Given the description of an element on the screen output the (x, y) to click on. 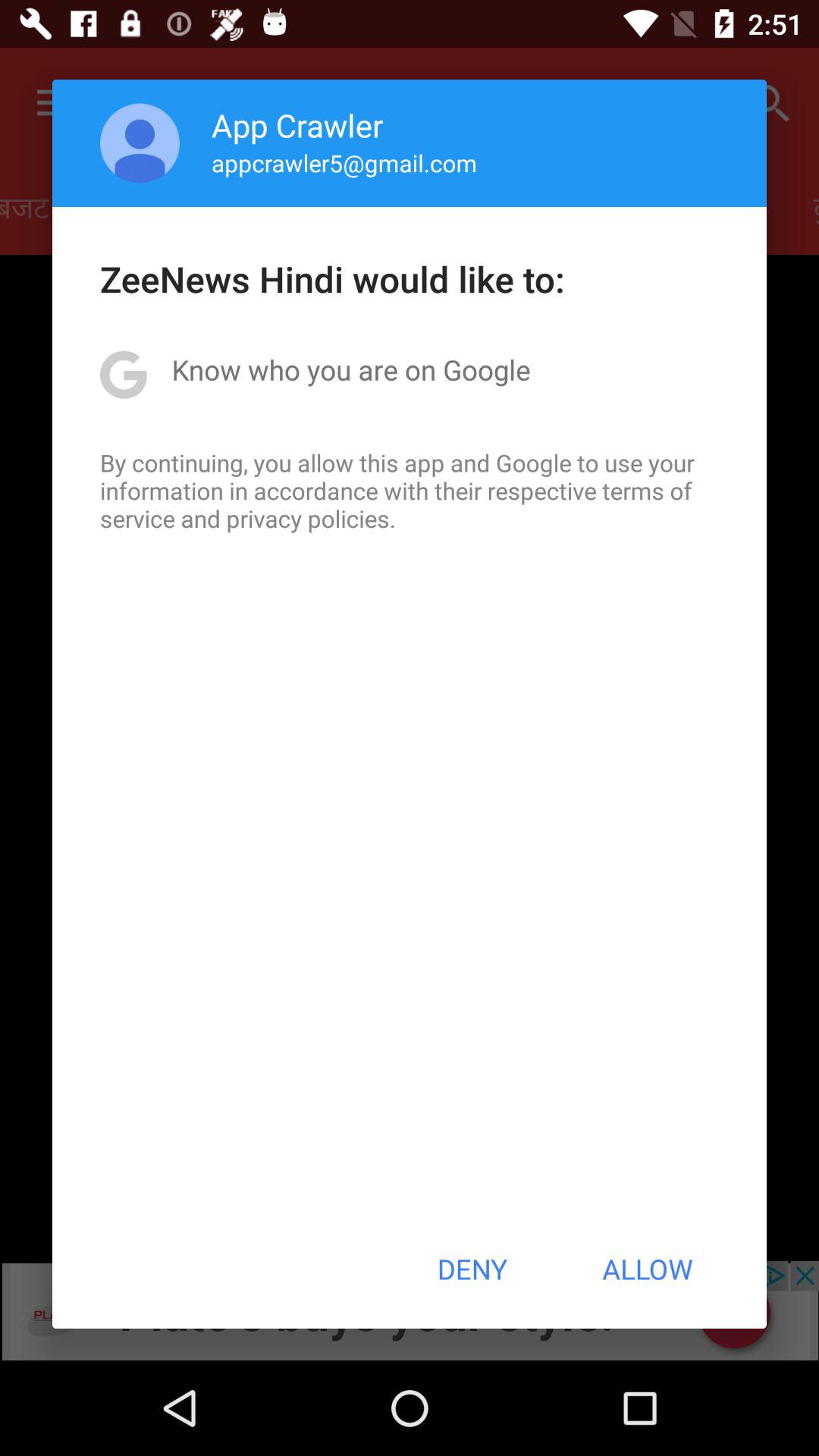
click the item next to the app crawler app (139, 143)
